Given the description of an element on the screen output the (x, y) to click on. 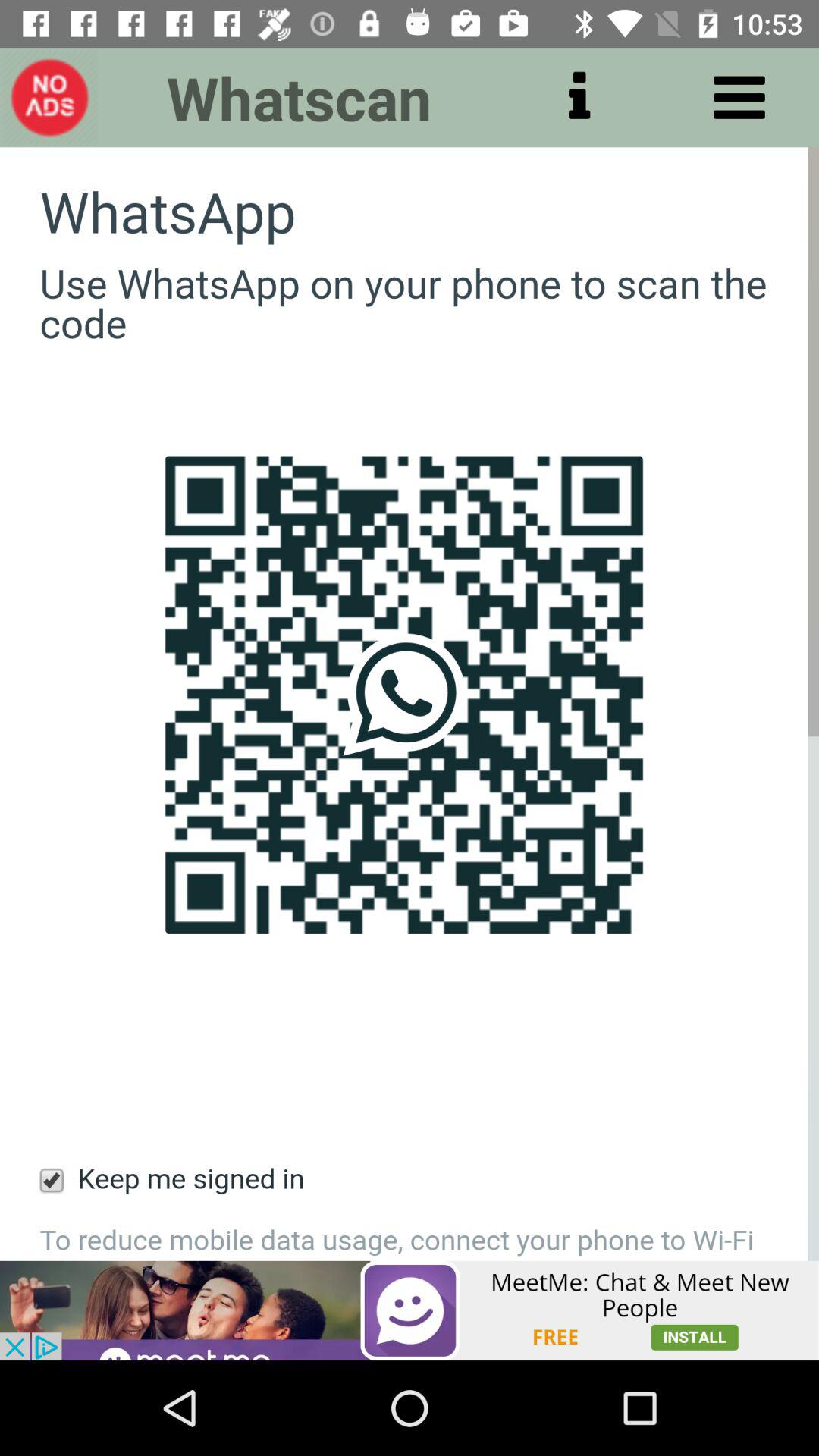
whatsapp scan (409, 703)
